Given the description of an element on the screen output the (x, y) to click on. 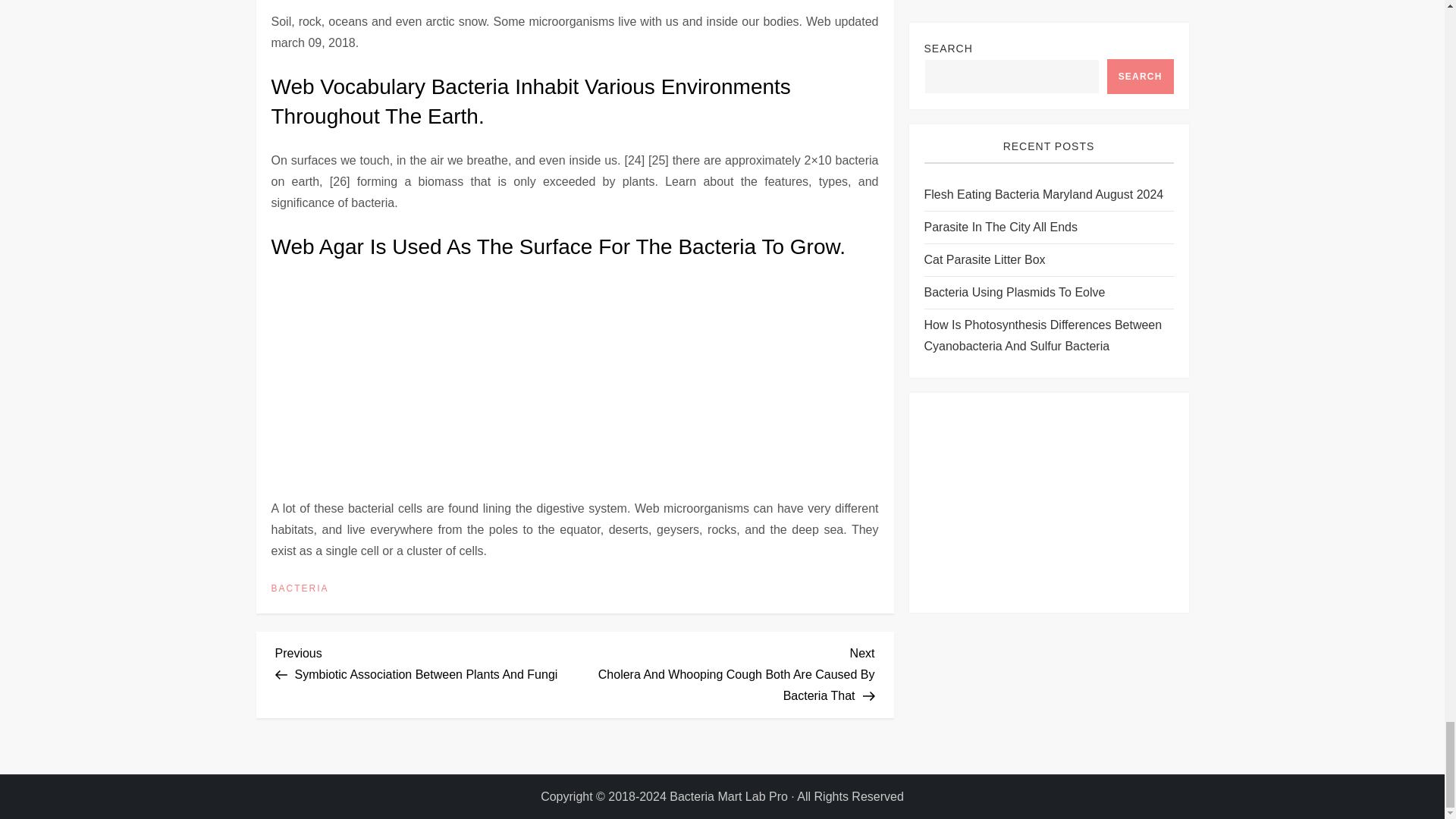
BACTERIA (299, 589)
